Given the description of an element on the screen output the (x, y) to click on. 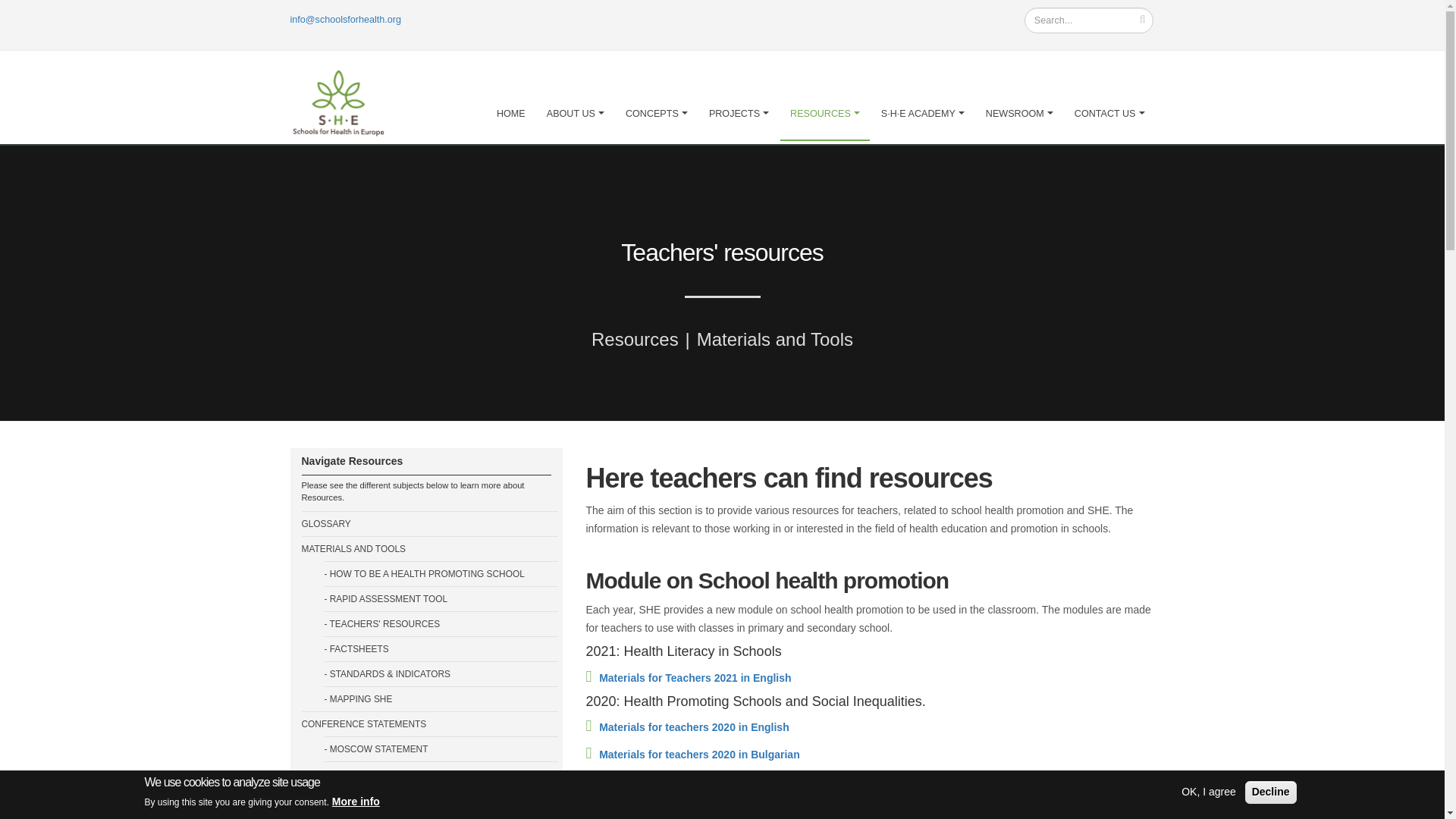
PROJECTS (738, 96)
CONCEPTS (656, 96)
ABOUT US (575, 96)
Decline (1270, 792)
Home (346, 92)
More info (355, 801)
OK, I agree (1207, 792)
Search this glossary (1089, 20)
